Given the description of an element on the screen output the (x, y) to click on. 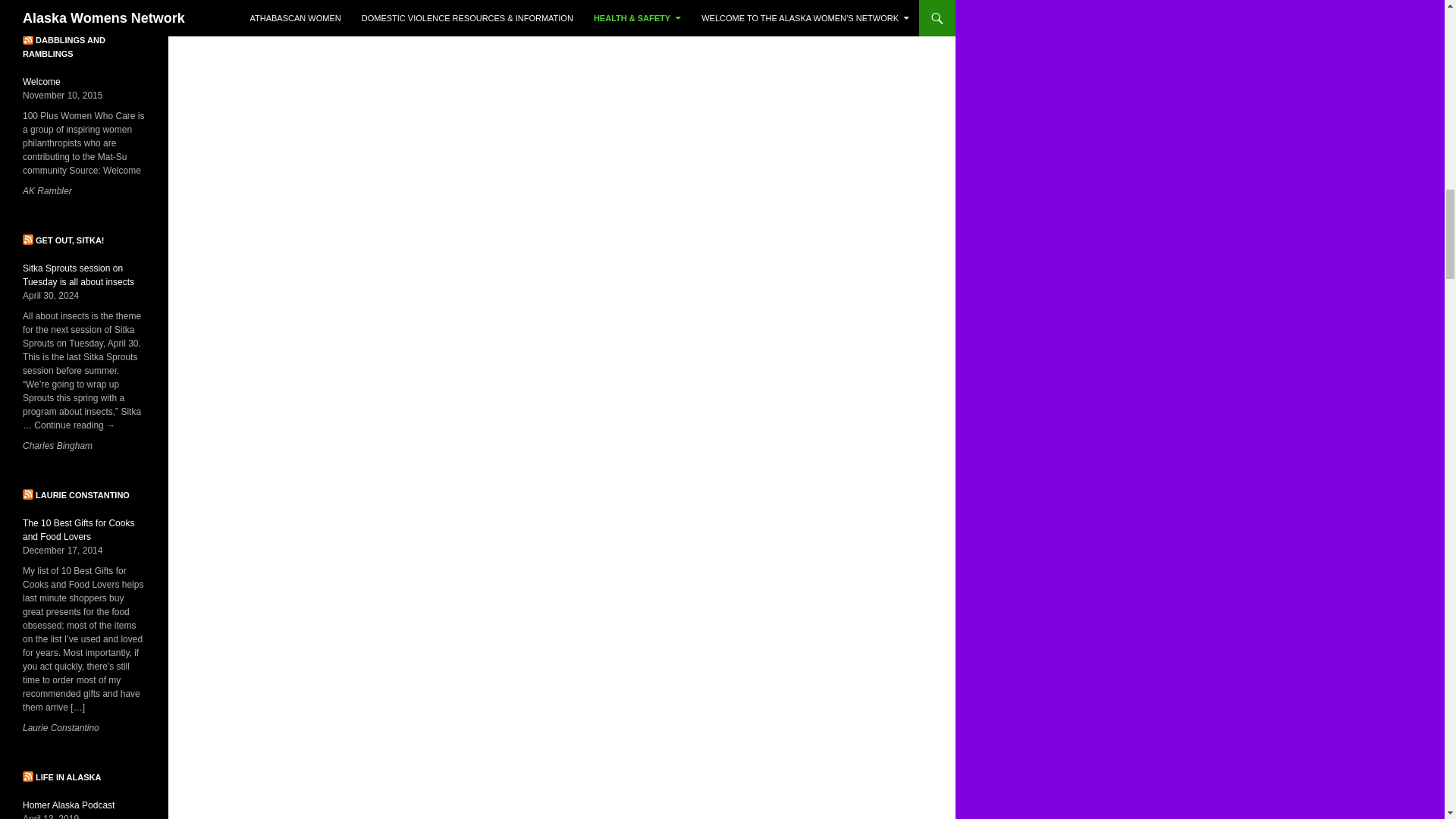
DABBLINGS AND RAMBLINGS (63, 47)
